Given the description of an element on the screen output the (x, y) to click on. 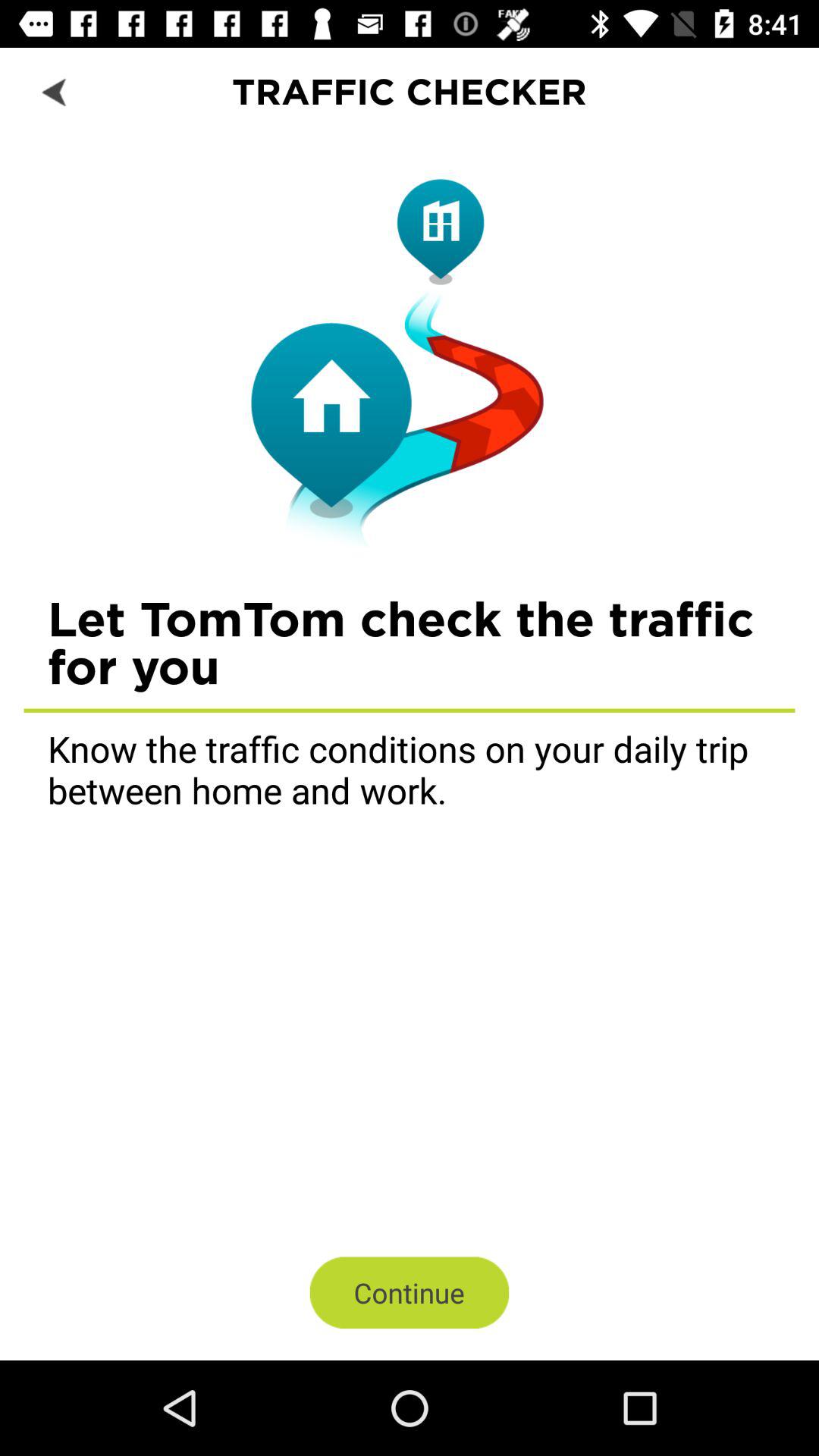
open the item to the left of the traffic checker icon (55, 91)
